Given the description of an element on the screen output the (x, y) to click on. 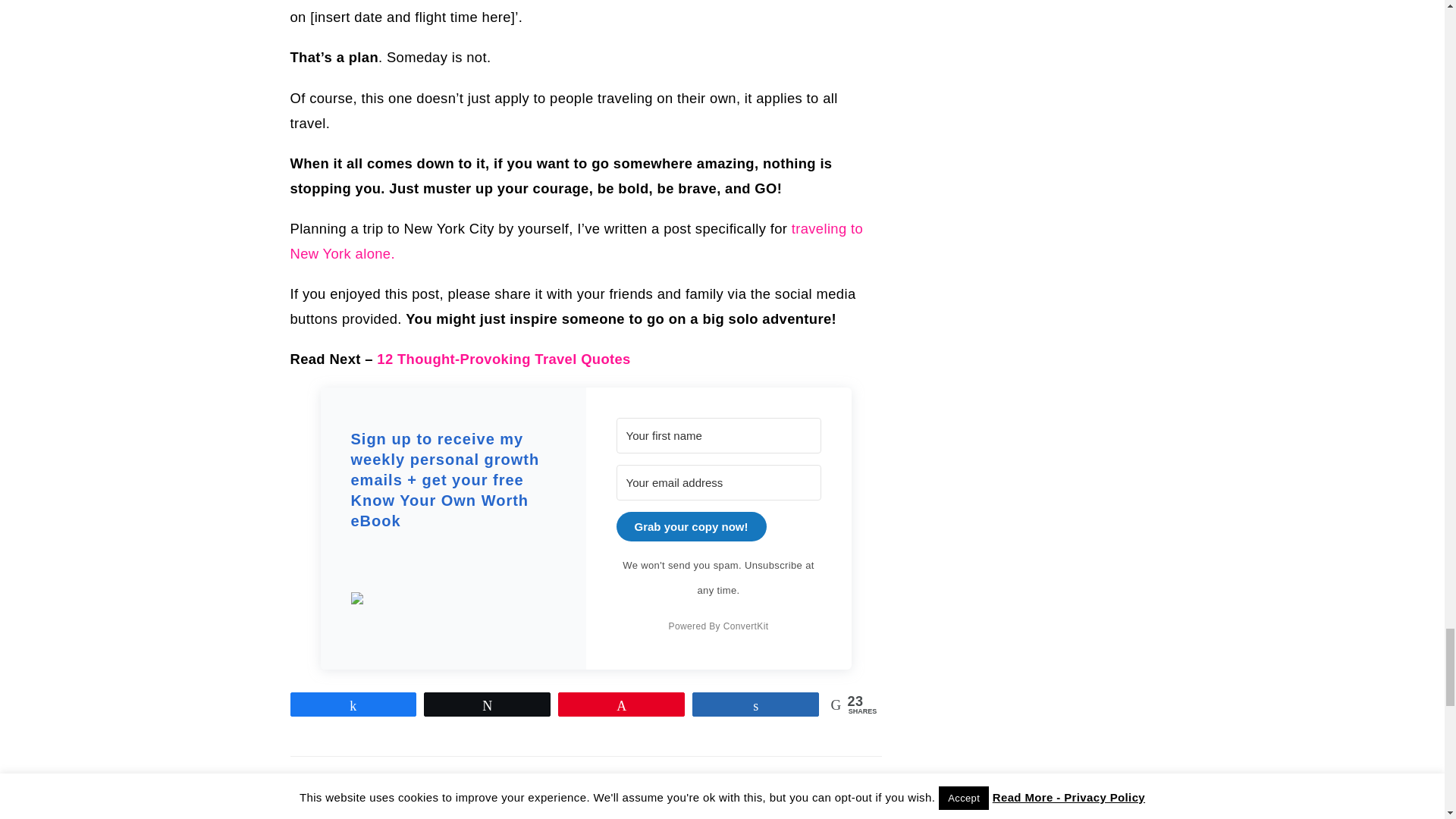
Powered By ConvertKit (718, 626)
traveling to New York alone. (576, 240)
12 Thought-Provoking Travel Quotes (503, 358)
Grab your copy now! (690, 526)
